Given the description of an element on the screen output the (x, y) to click on. 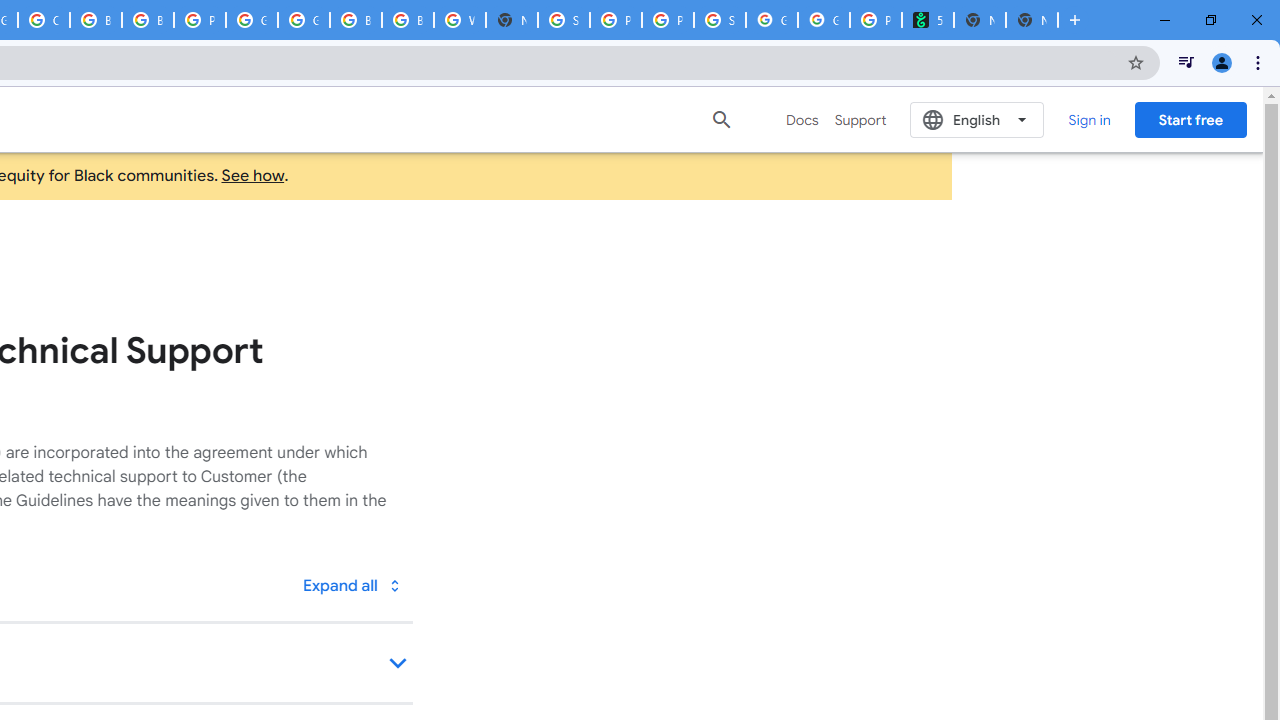
Google Cloud Platform (251, 20)
New Tab (1032, 20)
